Given the description of an element on the screen output the (x, y) to click on. 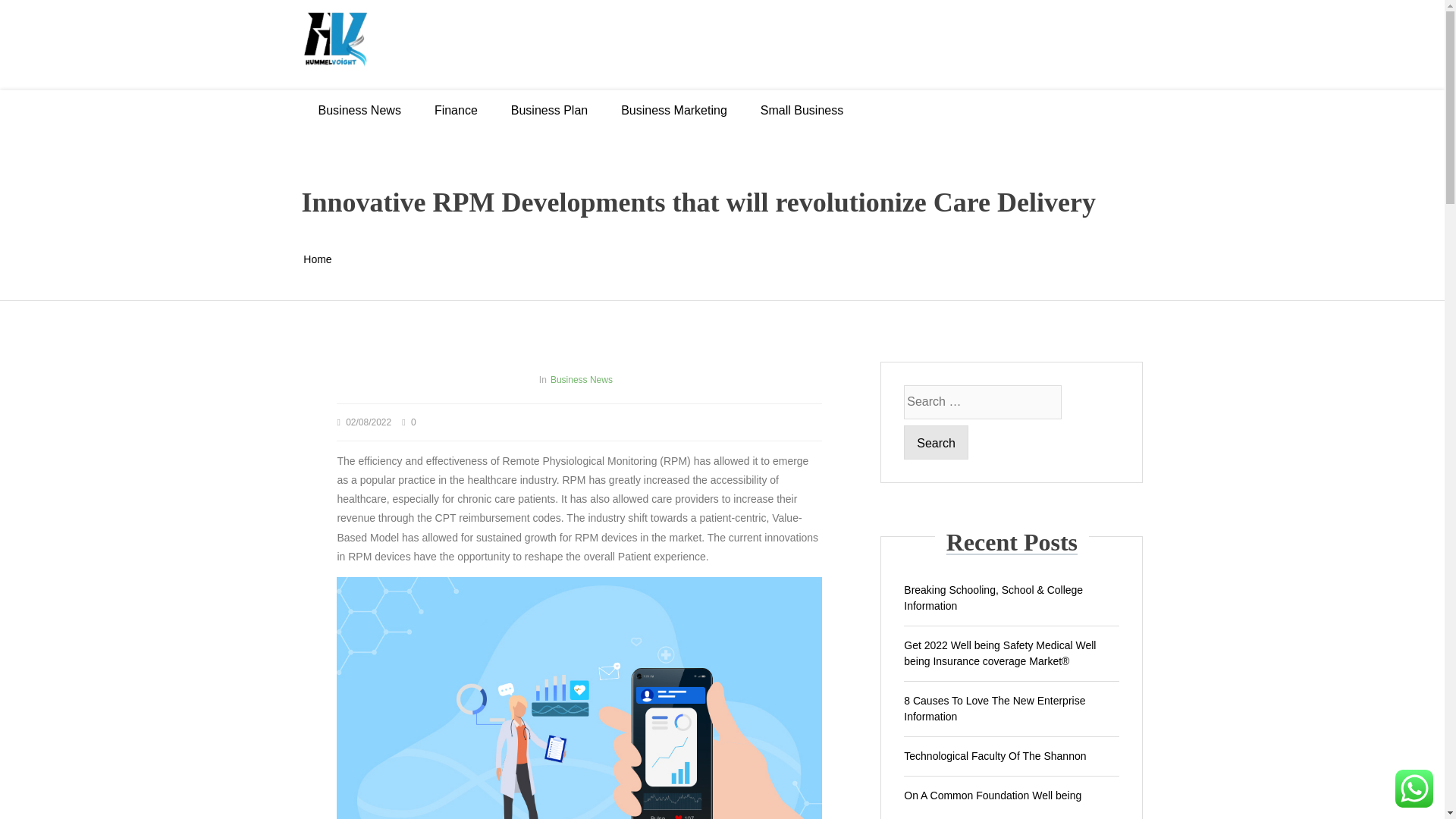
Business Plan (549, 110)
Small Business (802, 110)
Business News (581, 379)
HV (721, 44)
Business Marketing (674, 110)
Business News (359, 110)
Search (936, 442)
Search (936, 442)
Home (316, 259)
Finance (456, 110)
